Given the description of an element on the screen output the (x, y) to click on. 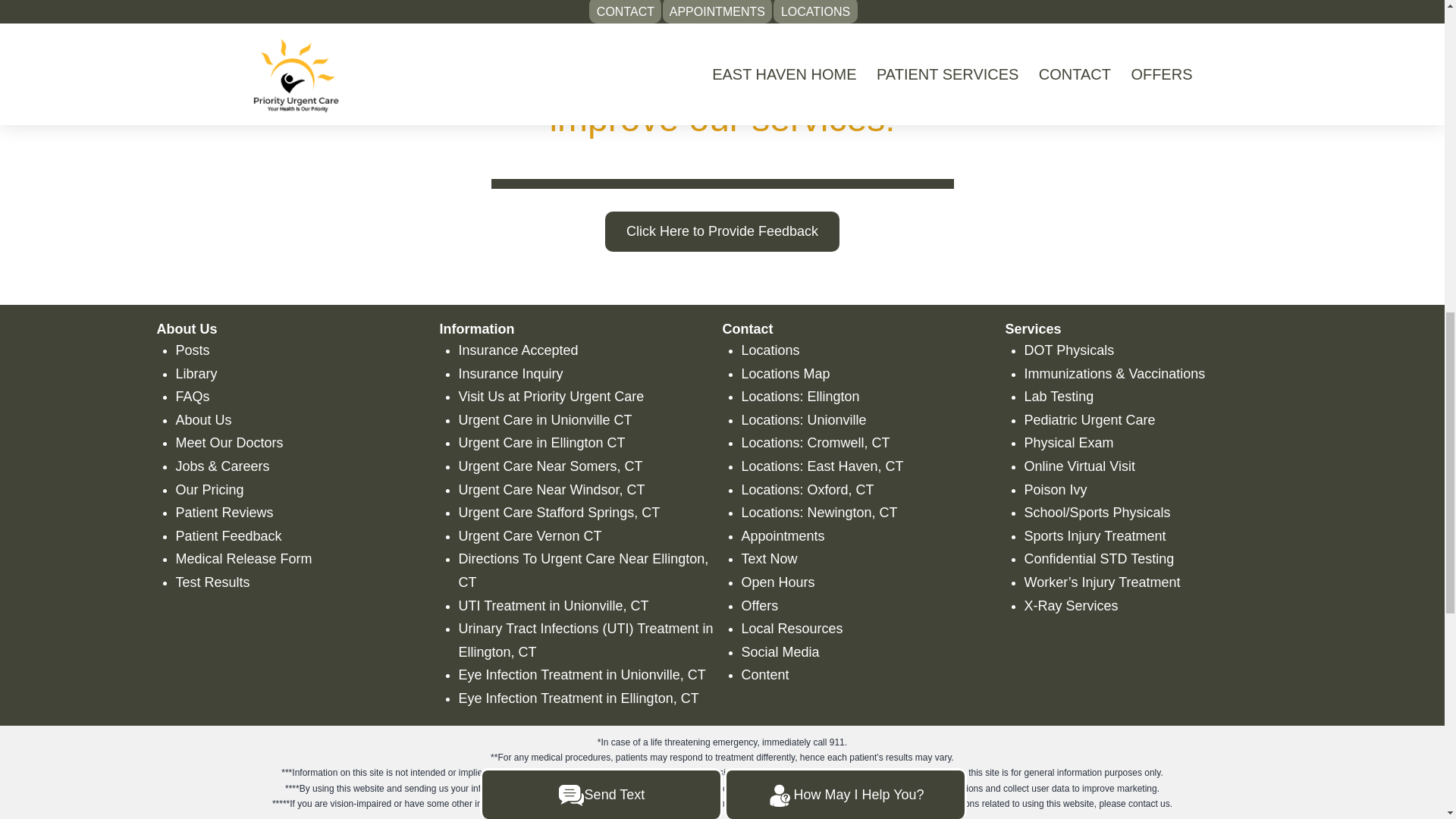
Urgent Care Near Windsor, CT (551, 489)
FAQs (192, 396)
Library (196, 373)
Click Here to Provide Feedback (722, 231)
Test Results (213, 581)
Eye Infection Treatment in Ellington, CT (578, 698)
Patient Feedback (229, 535)
Urgent Care Vernon CT (529, 535)
Locations (770, 350)
